Given the description of an element on the screen output the (x, y) to click on. 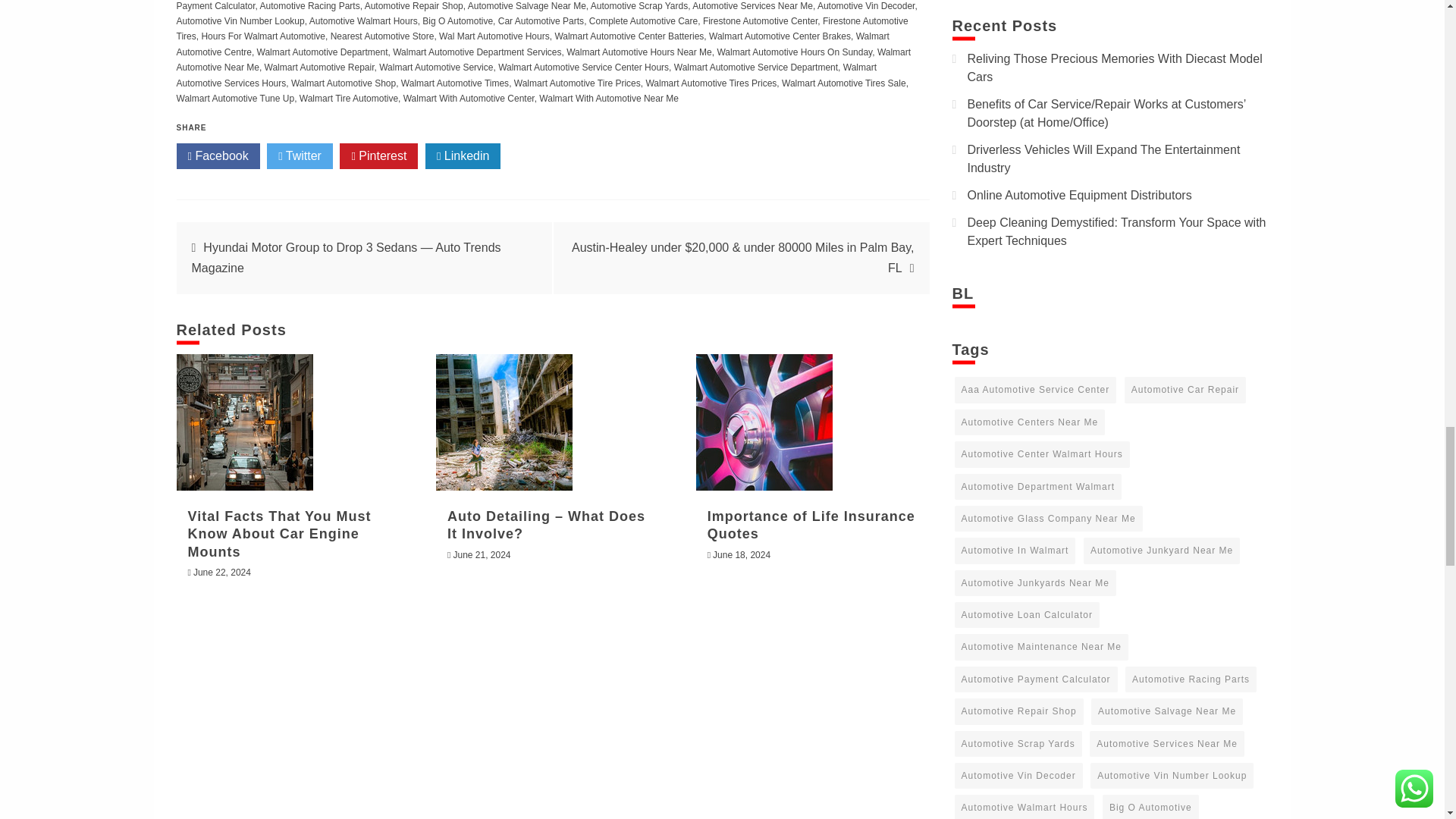
Importance of Life Insurance Quotes (763, 421)
Vital Facts That You Must Know About Car Engine Mounts (244, 421)
